Given the description of an element on the screen output the (x, y) to click on. 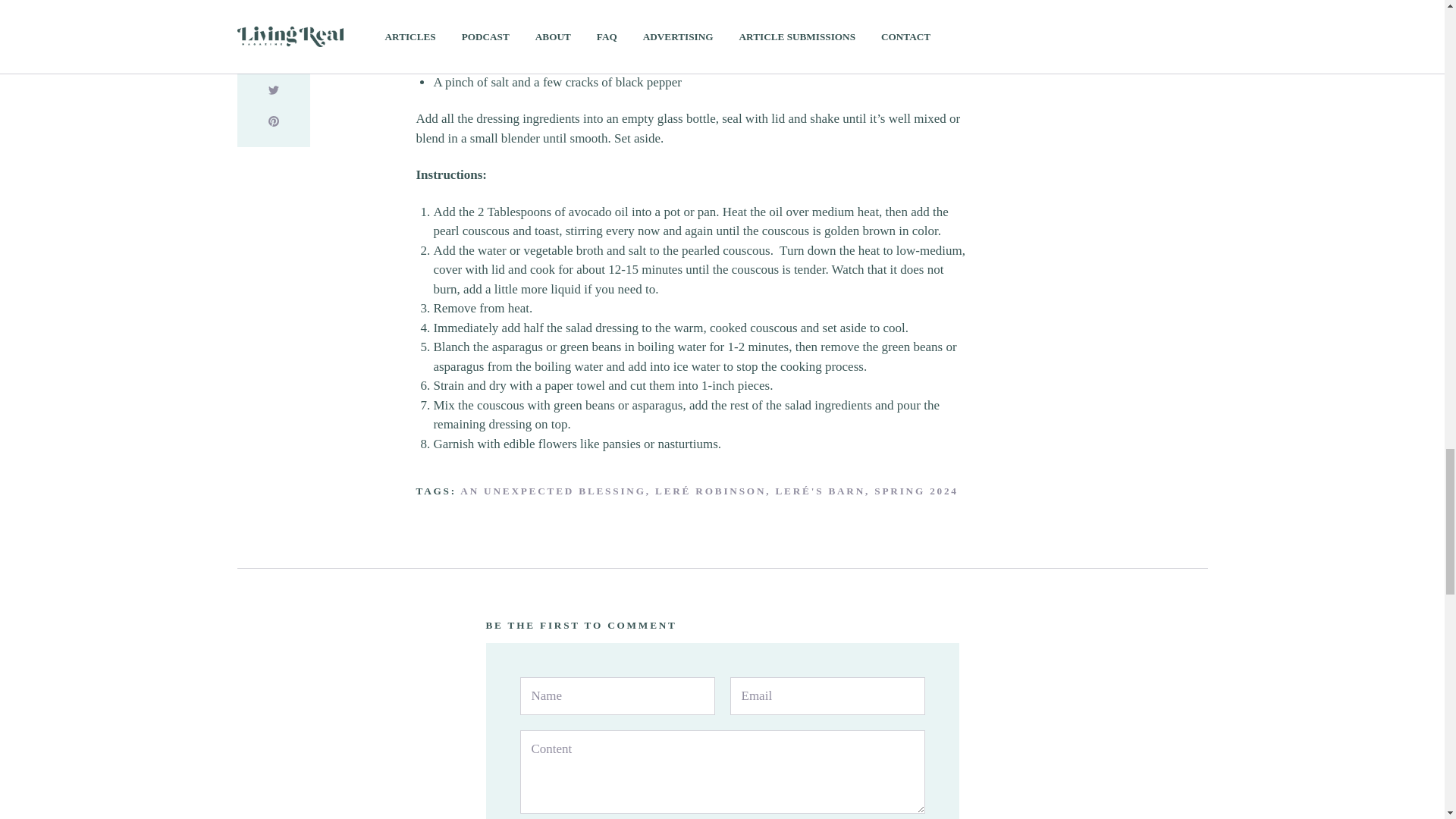
AN UNEXPECTED BLESSING (553, 490)
Show articles tagged An Unexpected Blessing (553, 490)
Show articles tagged Spring 2024 (916, 490)
SPRING 2024 (916, 490)
